Given the description of an element on the screen output the (x, y) to click on. 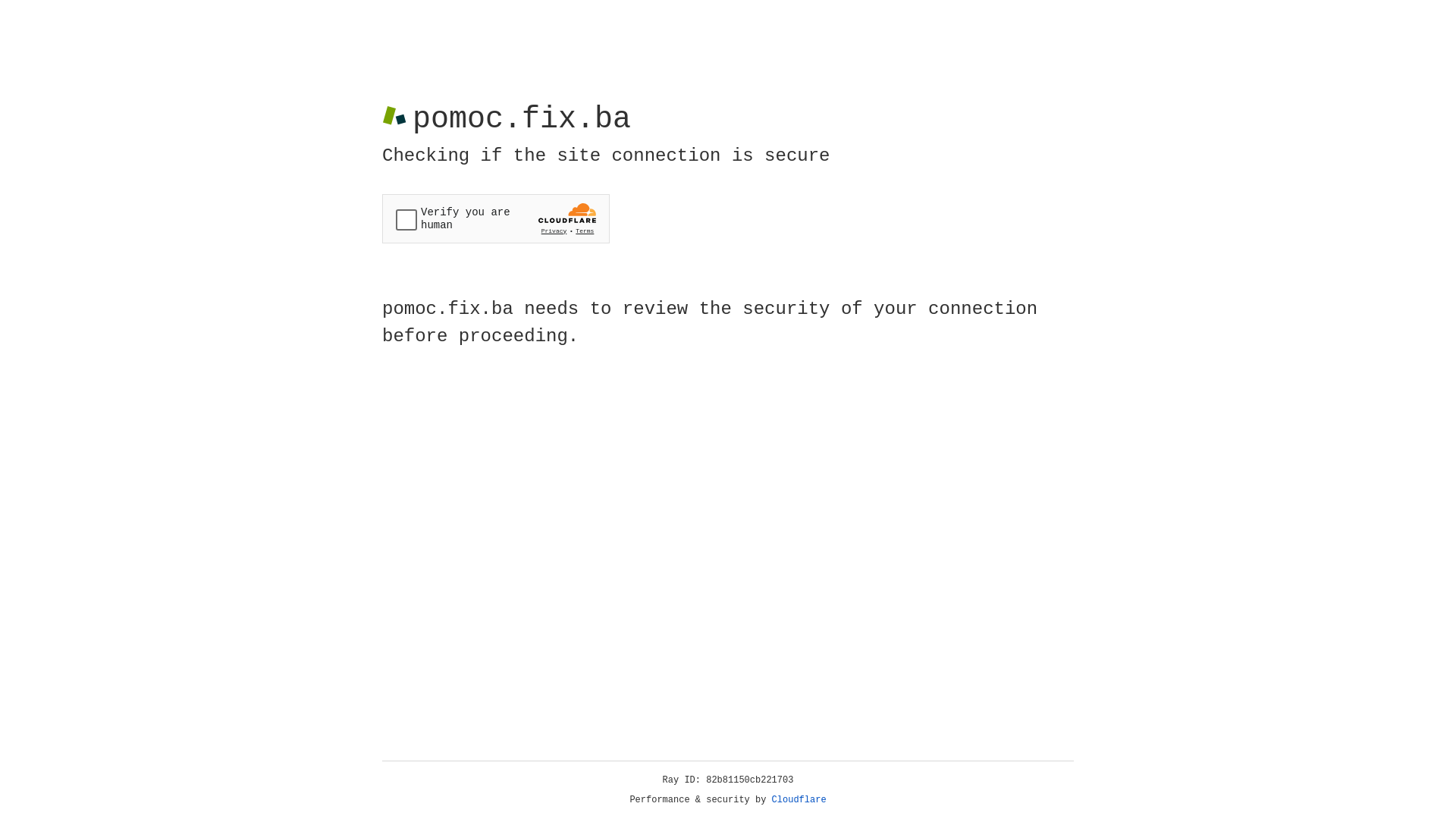
Widget containing a Cloudflare security challenge Element type: hover (495, 218)
Cloudflare Element type: text (798, 799)
